Given the description of an element on the screen output the (x, y) to click on. 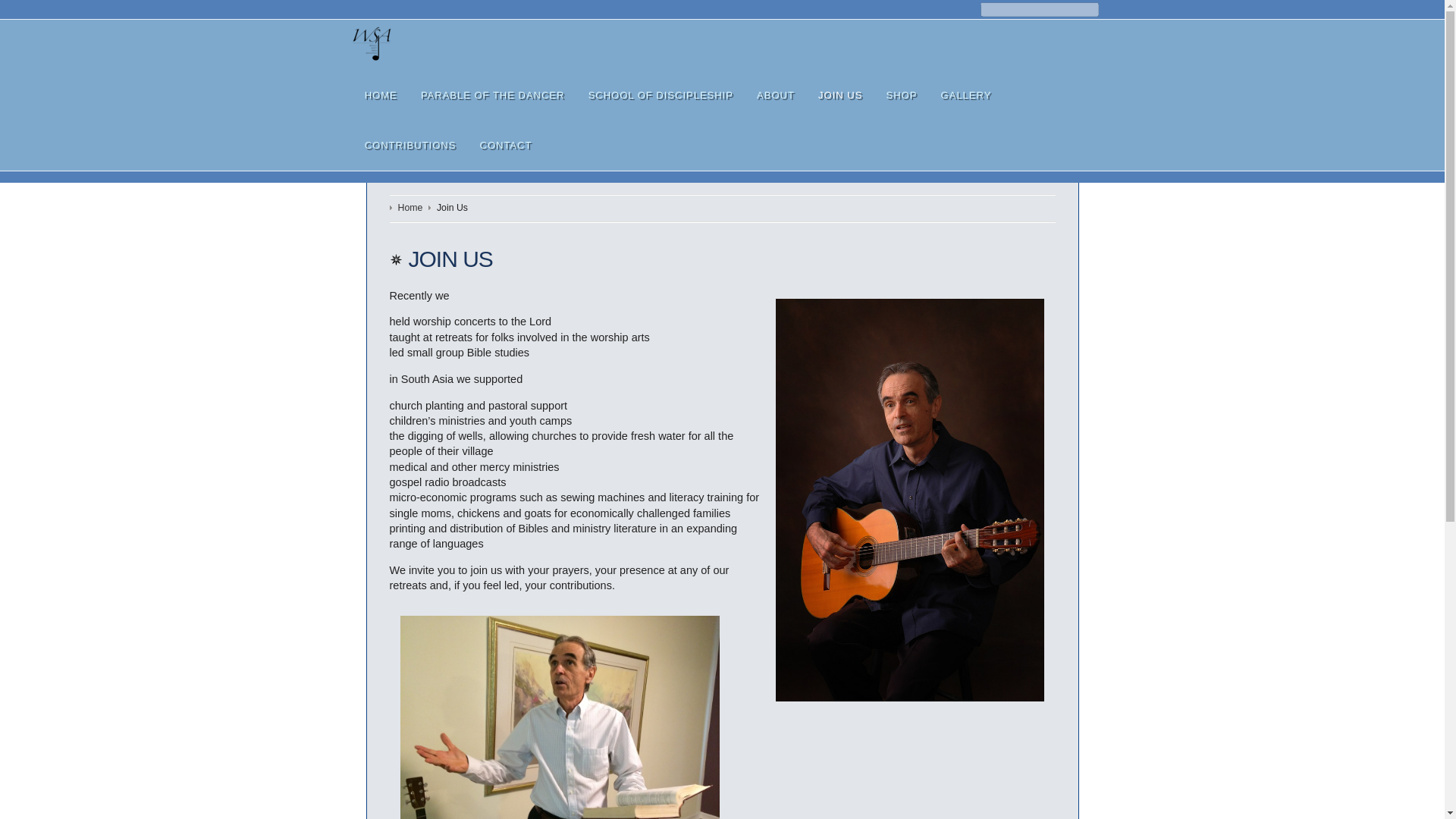
JOIN US (839, 95)
Wesley Scott Amos (371, 44)
SCHOOL OF DISCIPLESHIP (660, 95)
CONTACT (505, 145)
CONTRIBUTIONS (410, 145)
SHOP (901, 95)
HOME (380, 95)
PARABLE OF THE DANCER (493, 95)
ABOUT (775, 95)
GALLERY (966, 95)
Home (410, 207)
